Given the description of an element on the screen output the (x, y) to click on. 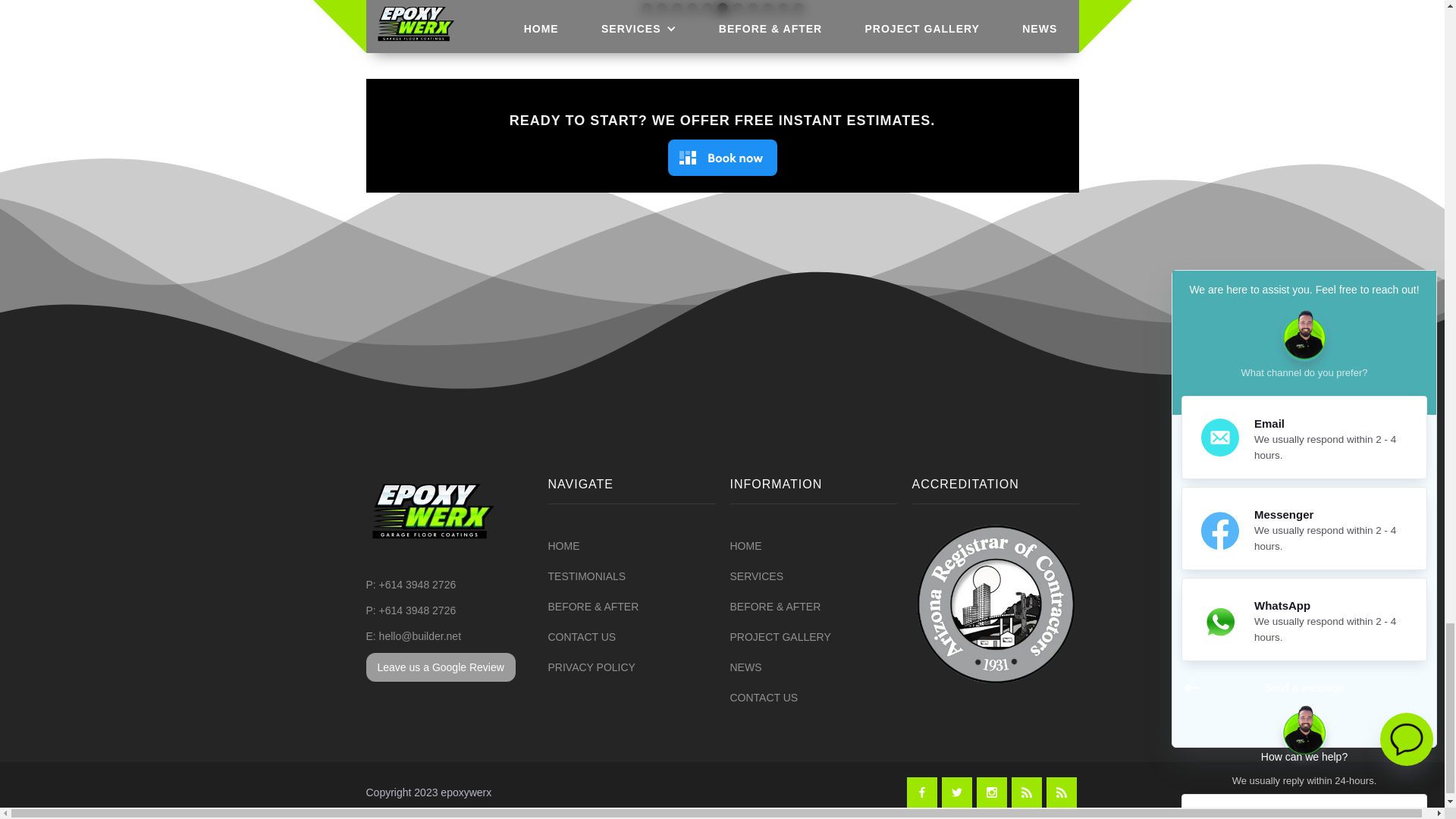
HOME (563, 545)
Leave us a Google Review (440, 666)
HOME (745, 545)
CONTACT US (581, 636)
PRIVACY POLICY (590, 667)
TESTIMONIALS (586, 575)
SERVICES (756, 575)
